Given the description of an element on the screen output the (x, y) to click on. 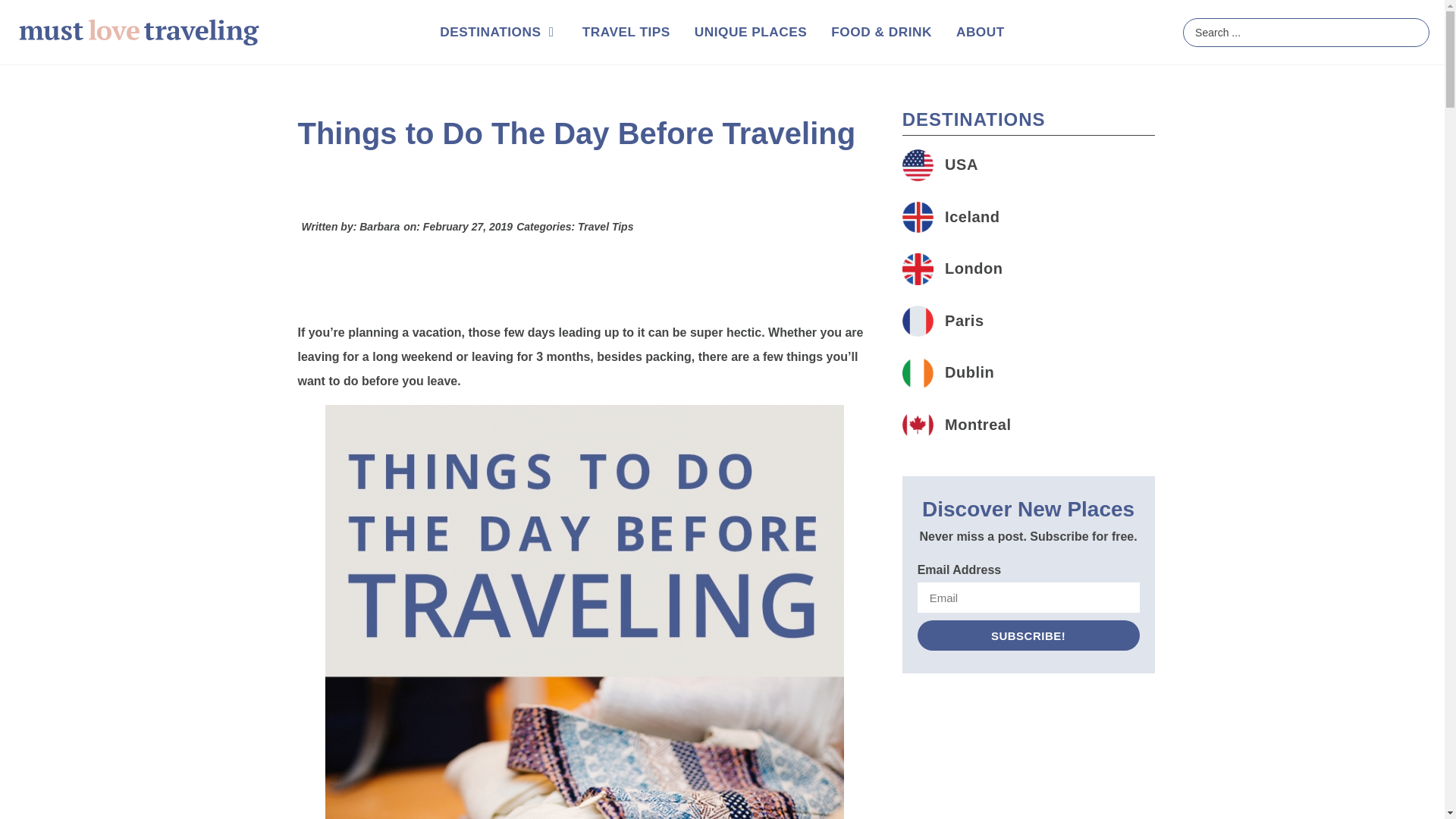
UNIQUE PLACES (750, 32)
TRAVEL TIPS (625, 32)
ABOUT (980, 32)
